Given the description of an element on the screen output the (x, y) to click on. 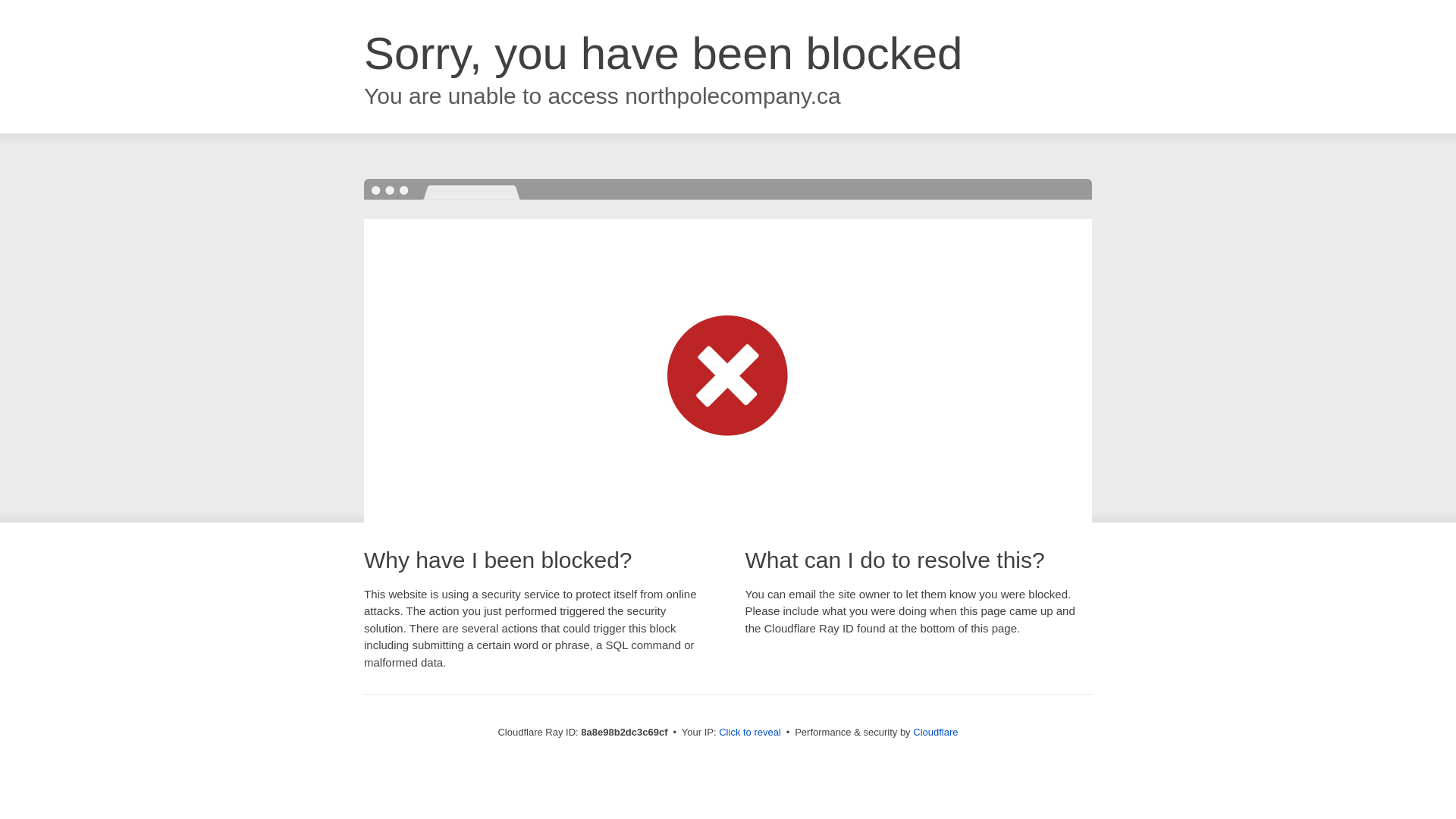
Cloudflare (935, 731)
Click to reveal (749, 732)
